Given the description of an element on the screen output the (x, y) to click on. 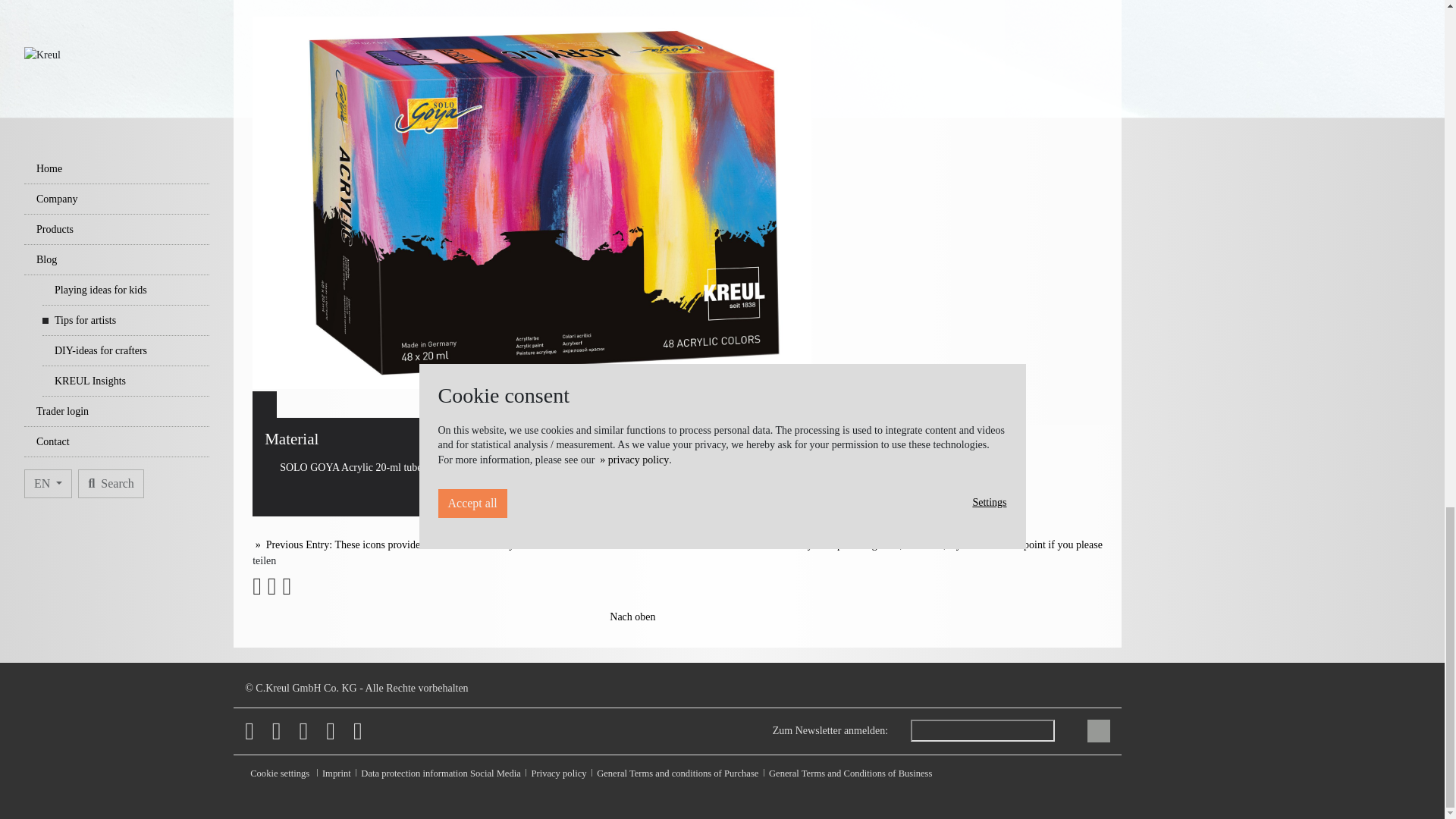
SOLO GOYA Acrylic 20-ml tubes in set of 48 paint colours (399, 467)
Anmelden (1098, 730)
Previous Entry: These icons provide information on safety (382, 544)
